Given the description of an element on the screen output the (x, y) to click on. 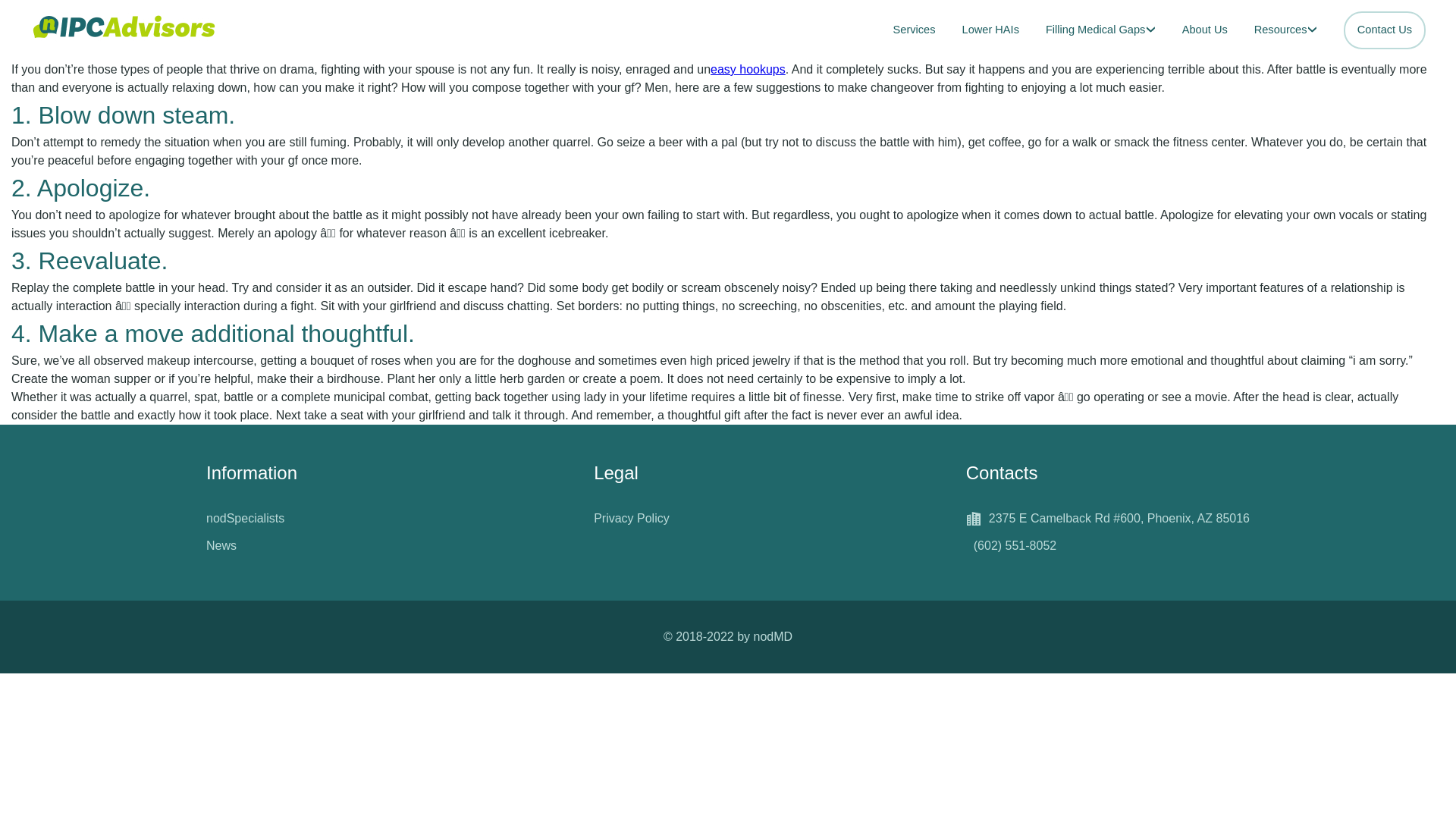
Lower HAIs (990, 30)
Filling Medical Gaps (1100, 30)
Privacy Policy (631, 518)
News (220, 546)
Contact Us (1384, 30)
Services (914, 30)
Resources (1285, 30)
nodSpecialists (244, 518)
easy hookups (748, 69)
About Us (1204, 30)
